Given the description of an element on the screen output the (x, y) to click on. 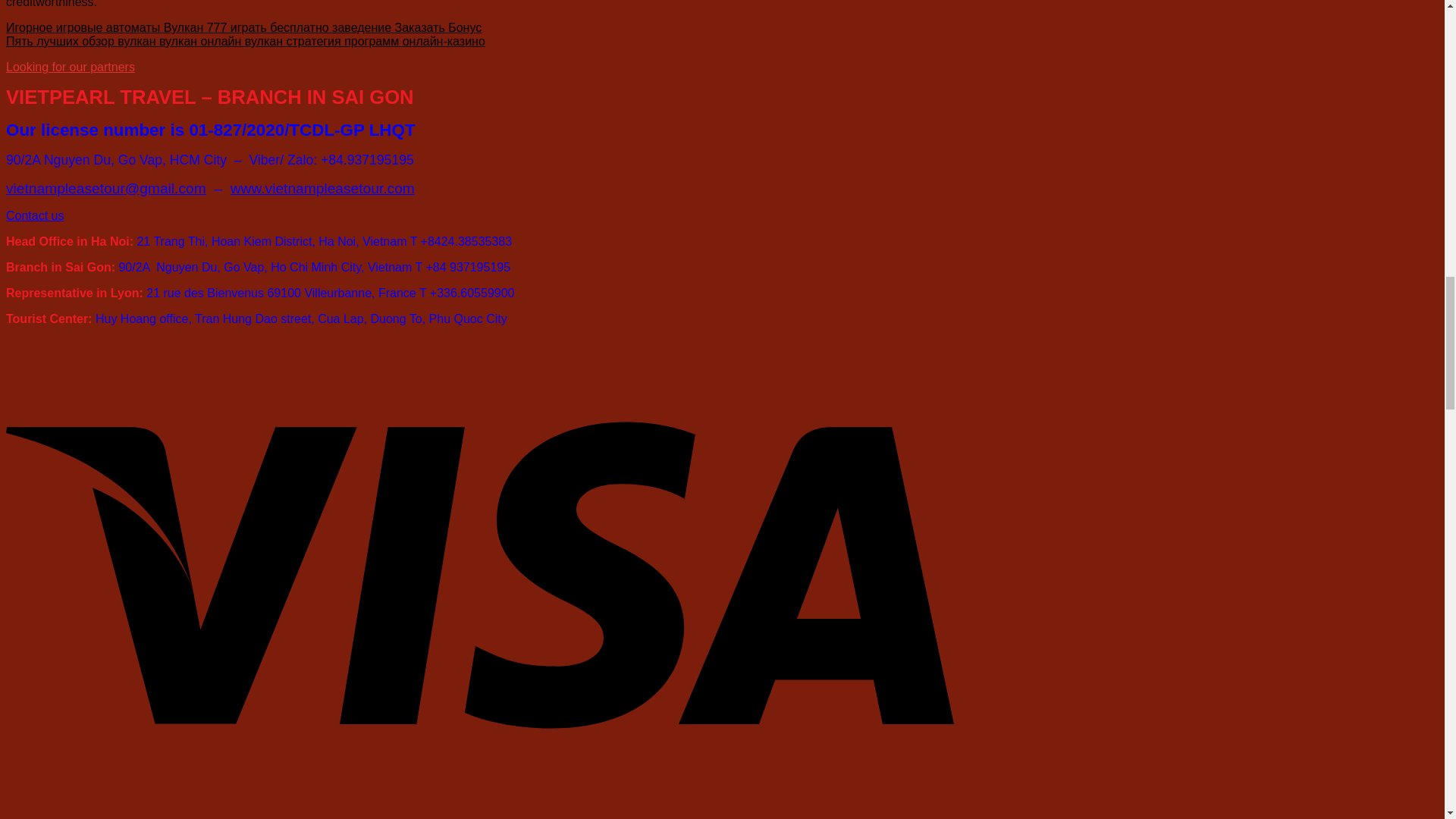
www.vietnampleasetour.com (322, 188)
Contact us (34, 215)
Looking for our partners (70, 66)
